Given the description of an element on the screen output the (x, y) to click on. 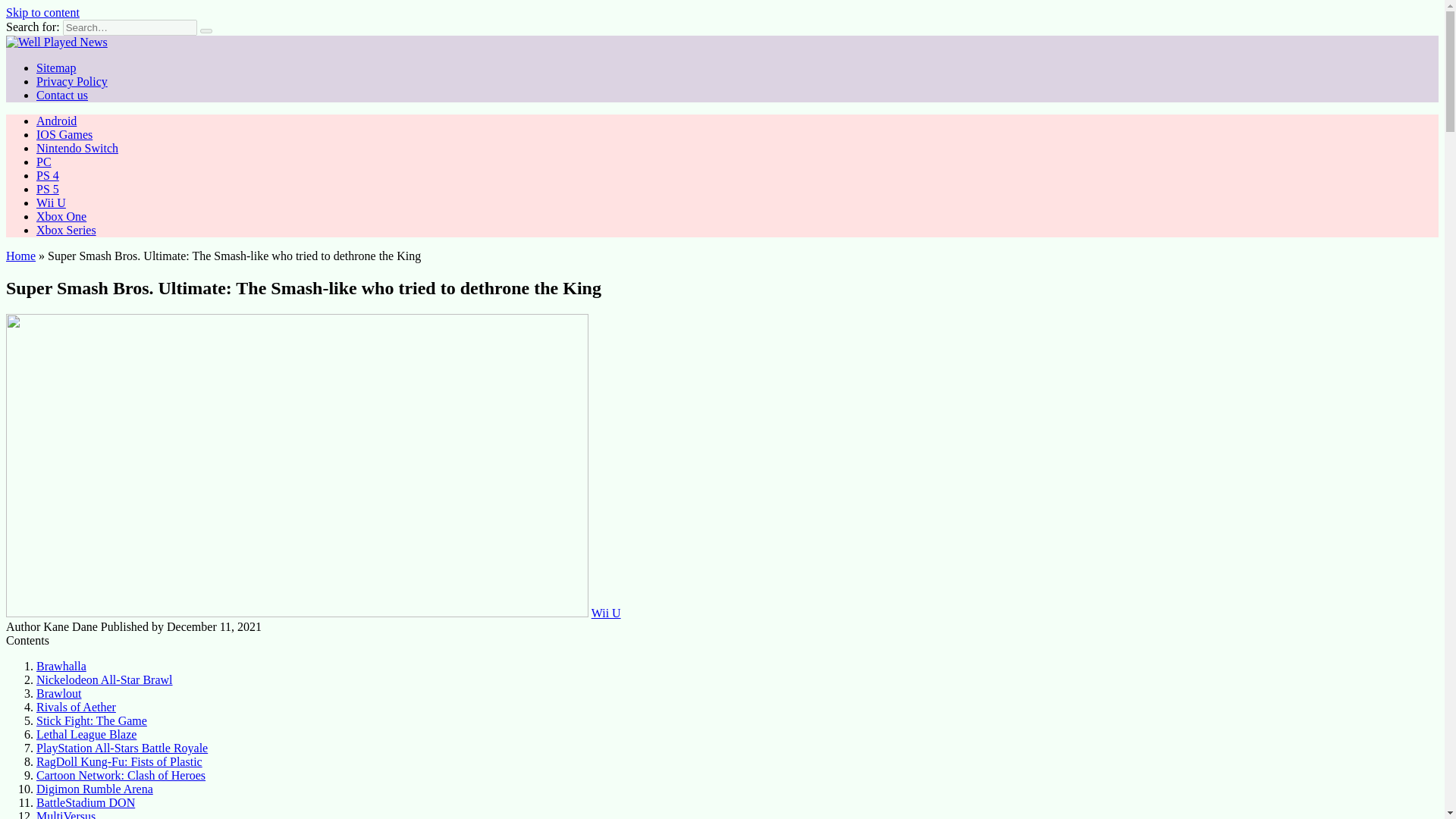
Nintendo Switch (76, 147)
Stick Fight: The Game (91, 720)
Xbox Series (66, 229)
BattleStadium DON (85, 802)
IOS Games (64, 133)
Digimon Rumble Arena (94, 788)
Lethal League Blaze (86, 734)
Wii U (606, 612)
PlayStation All-Stars Battle Royale (122, 748)
PC (43, 161)
Cartoon Network: Clash of Heroes (120, 775)
PS 4 (47, 174)
Contact us (61, 94)
Rivals of Aether (76, 707)
Nickelodeon All-Star Brawl (104, 679)
